Given the description of an element on the screen output the (x, y) to click on. 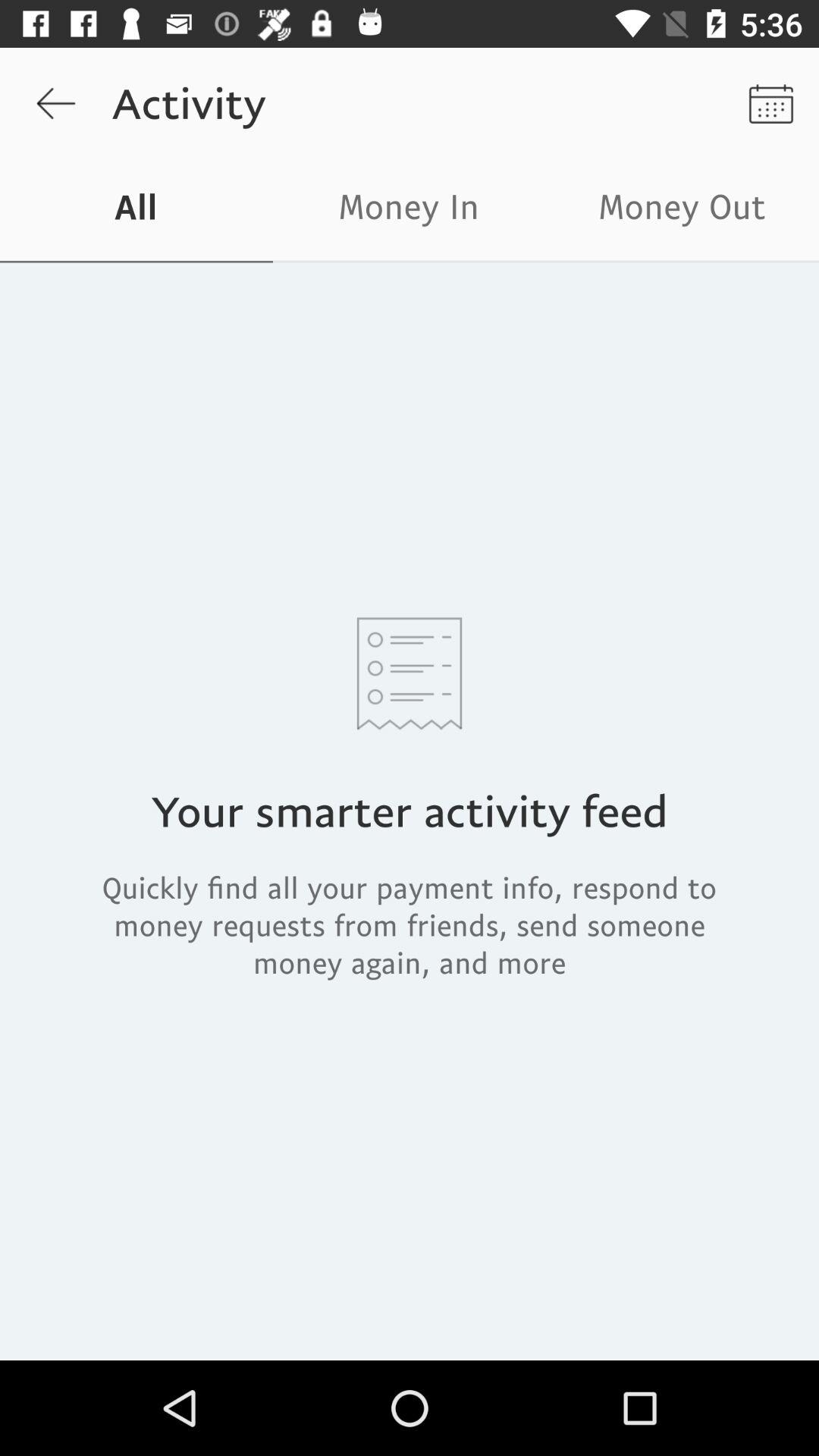
turn off the item above the your smarter activity item (682, 210)
